Given the description of an element on the screen output the (x, y) to click on. 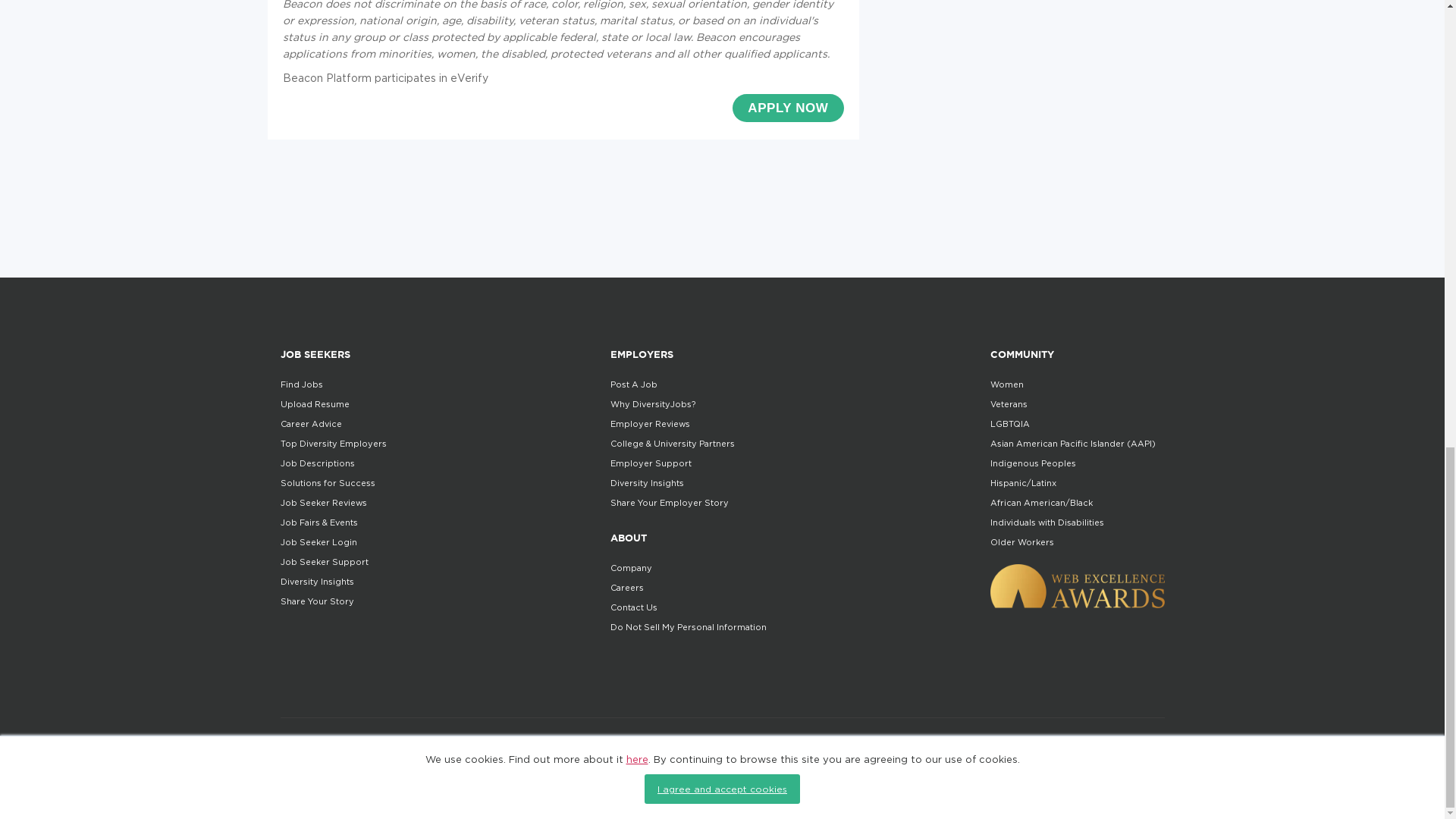
Apply Now (787, 108)
Apply Now (787, 107)
